Given the description of an element on the screen output the (x, y) to click on. 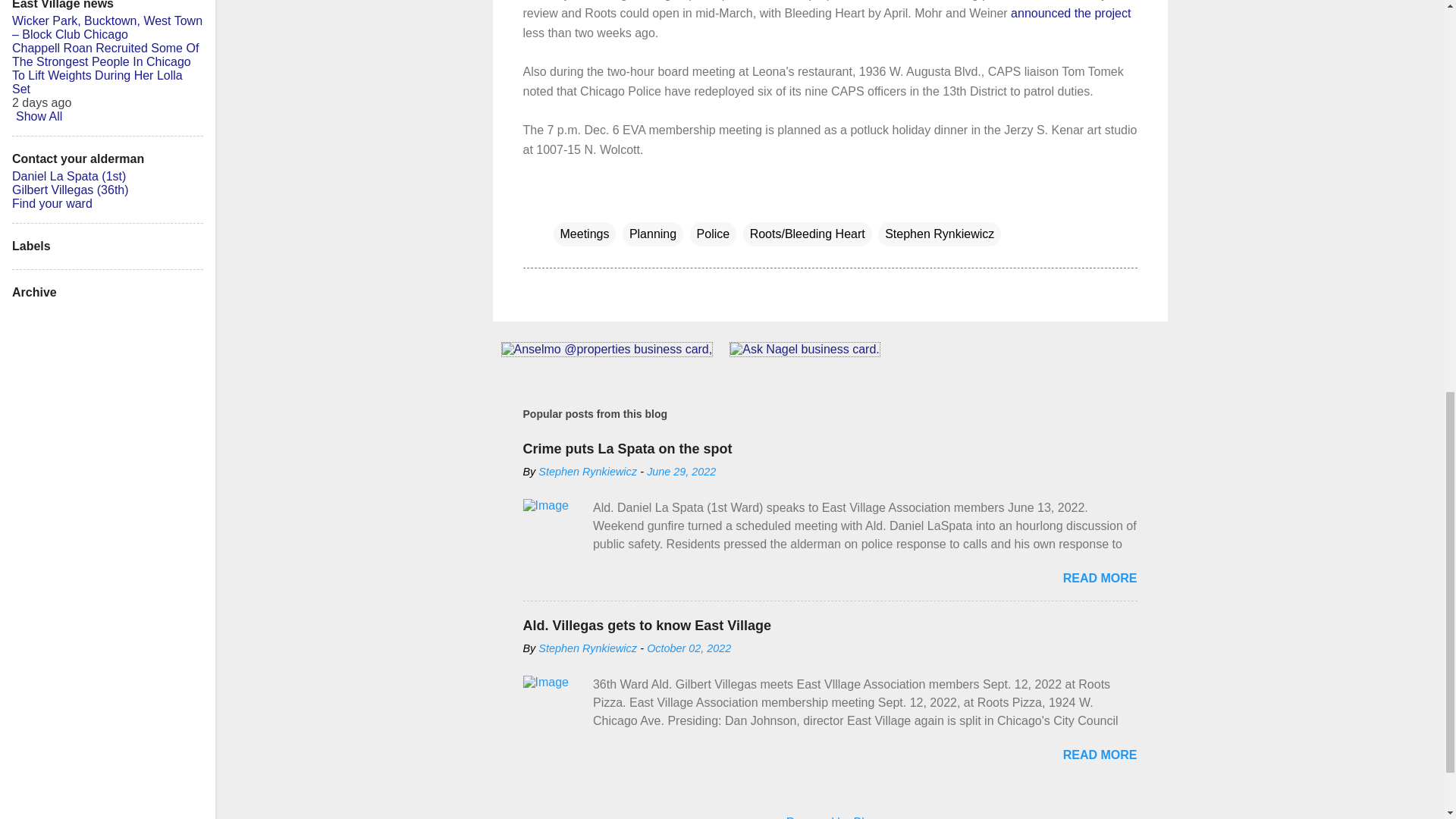
Ald. Villegas gets to know East Village (646, 625)
October 02, 2022 (688, 648)
Stephen Rynkiewicz (939, 233)
Police (713, 233)
READ MORE (1099, 577)
Meetings (584, 233)
Email Post (562, 203)
Powered by Blogger (829, 817)
June 29, 2022 (681, 471)
announced the project (1070, 12)
Stephen Rynkiewicz (587, 471)
Crime puts La Spata on the spot (627, 448)
Stephen Rynkiewicz (587, 648)
READ MORE (1099, 754)
Planning (652, 233)
